Given the description of an element on the screen output the (x, y) to click on. 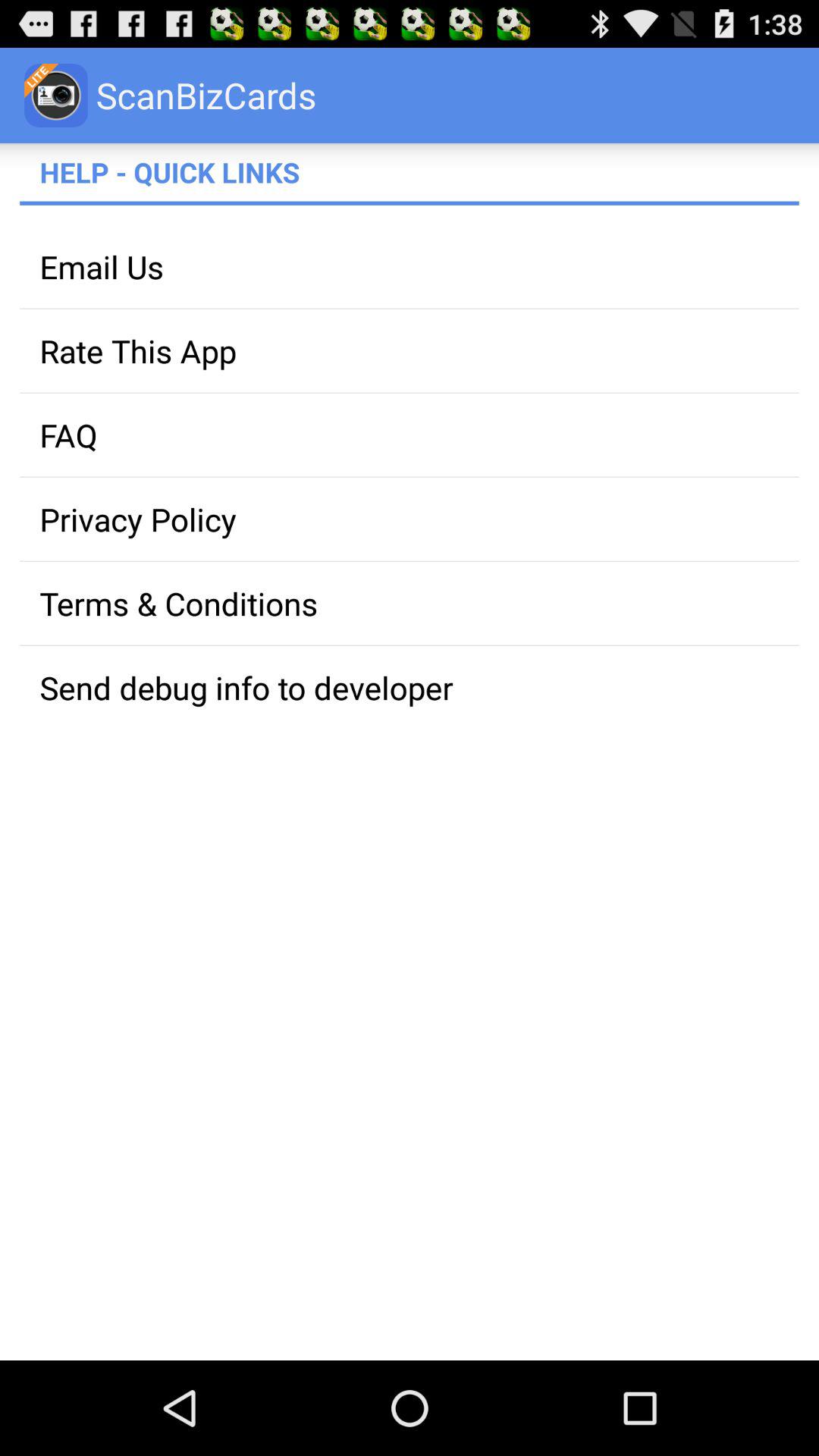
open the send debug info app (409, 687)
